Given the description of an element on the screen output the (x, y) to click on. 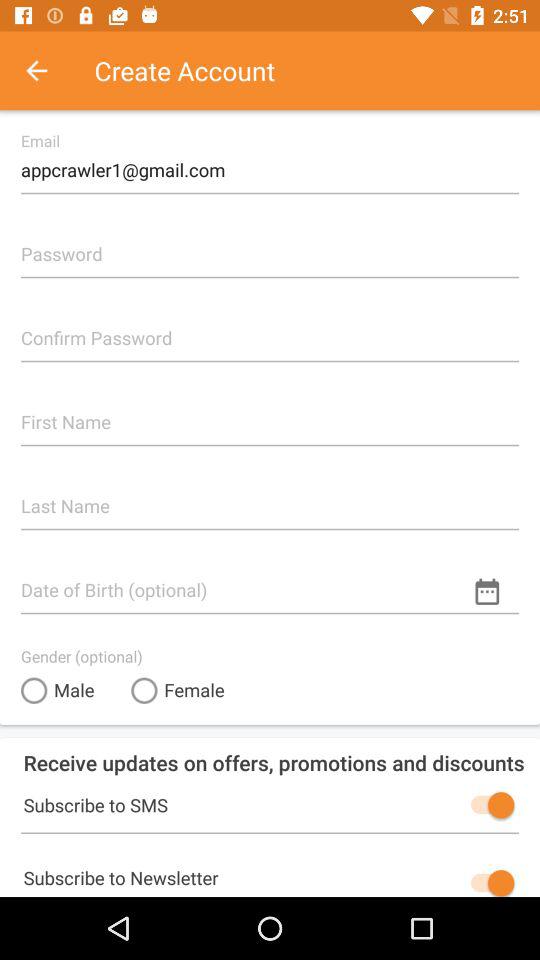
turn off appcrawler1@gmail.com icon (270, 161)
